Given the description of an element on the screen output the (x, y) to click on. 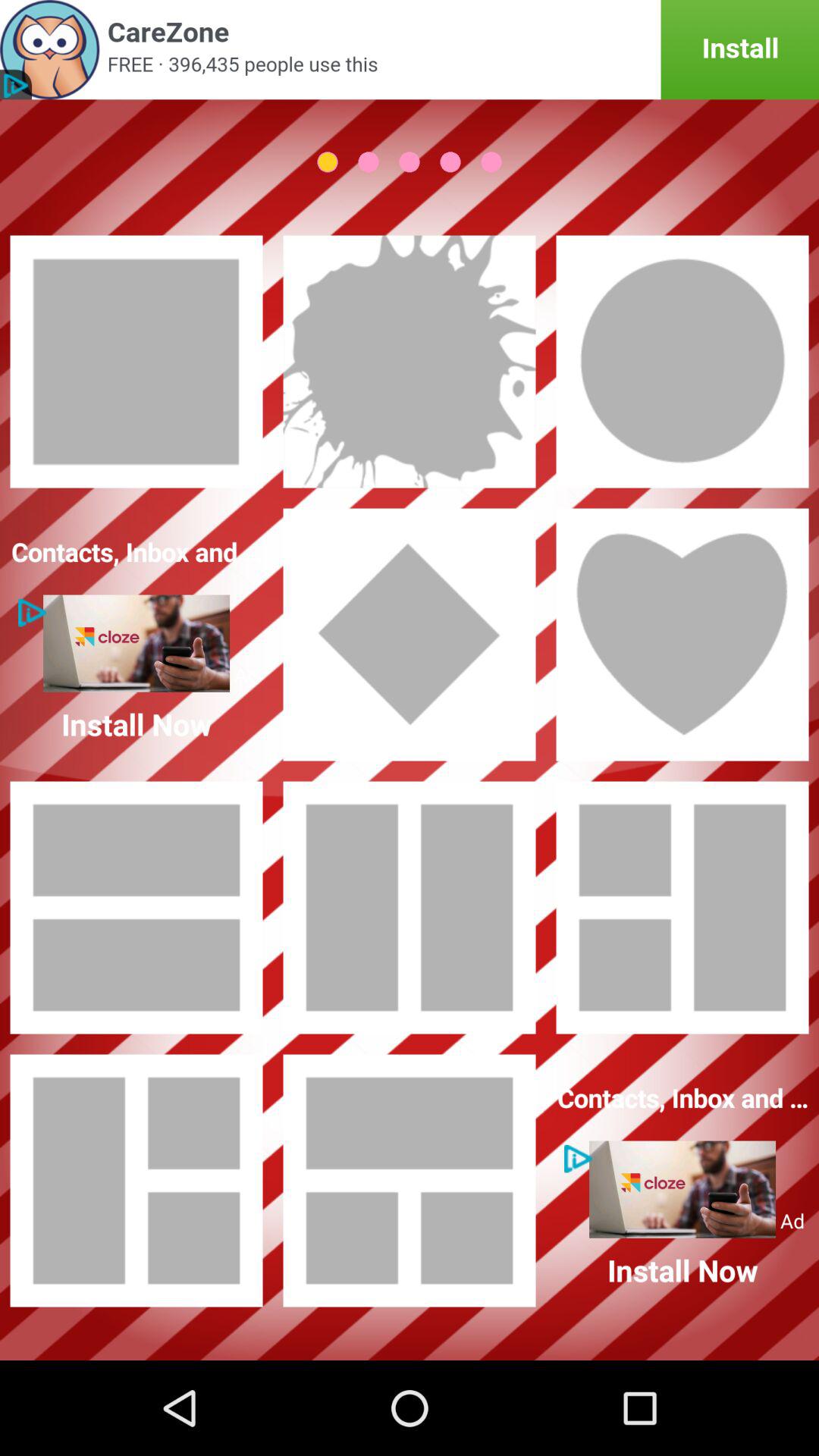
advertisement to install another app (409, 49)
